Given the description of an element on the screen output the (x, y) to click on. 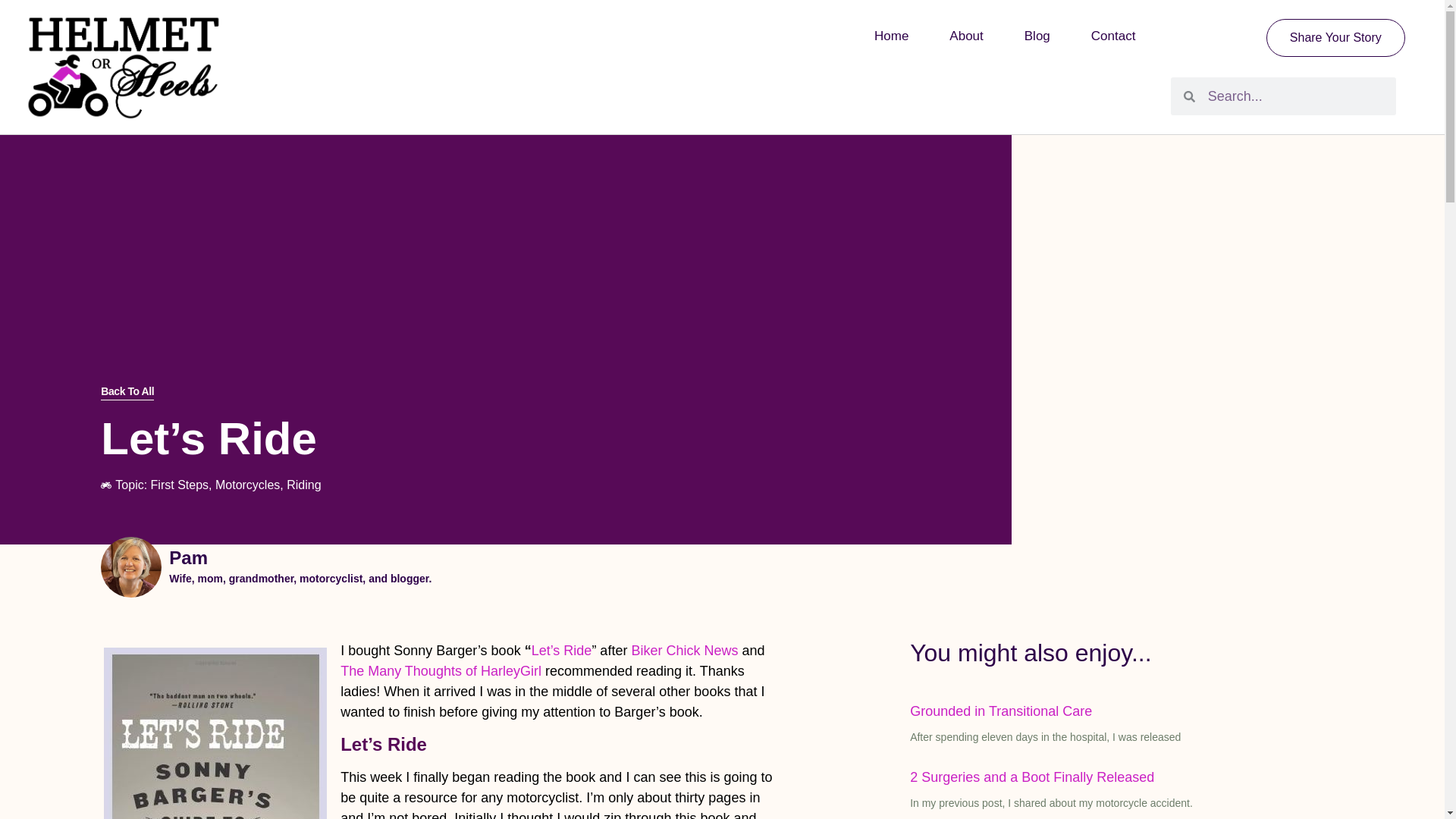
About (965, 36)
Home (890, 36)
Biker Chick News (685, 650)
Back To All (127, 392)
Riding (303, 484)
The Many Thoughts of HarleyGirl (440, 670)
First Steps (179, 484)
Blog (1037, 36)
Let's Ride Sonny Barger book (214, 733)
Search (1295, 95)
Share Your Story (1335, 37)
Motorcycles (247, 484)
Contact (1113, 36)
